Given the description of an element on the screen output the (x, y) to click on. 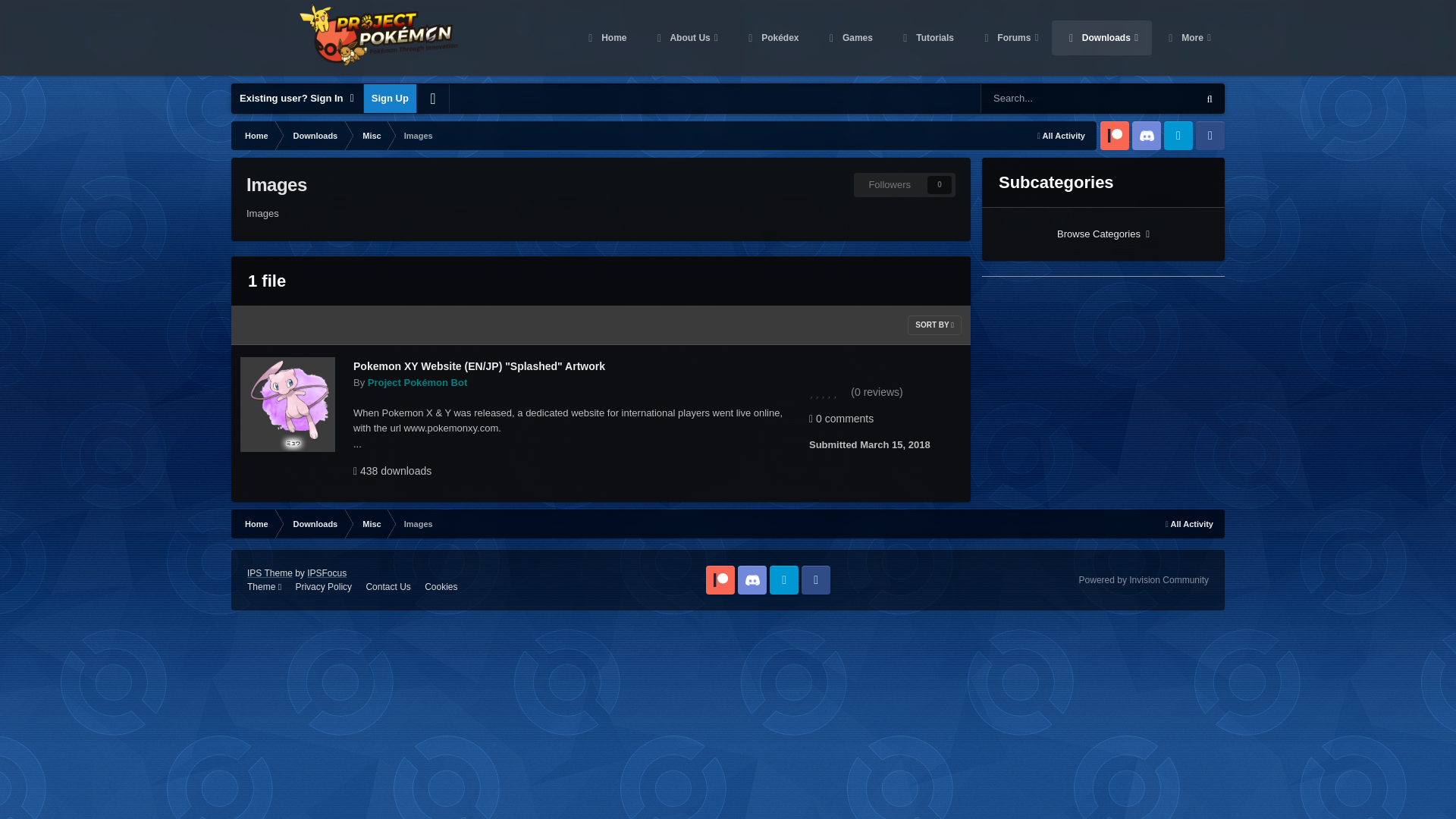
Games (849, 37)
Forums (1009, 37)
Existing user? Sign In   (296, 98)
About Us (686, 37)
Sign in to follow this (904, 184)
Tutorials (927, 37)
Invision Community (1143, 579)
Home (606, 37)
Customizer (432, 98)
More (1187, 37)
Home (255, 523)
Downloads (1101, 37)
Home (255, 135)
